Given the description of an element on the screen output the (x, y) to click on. 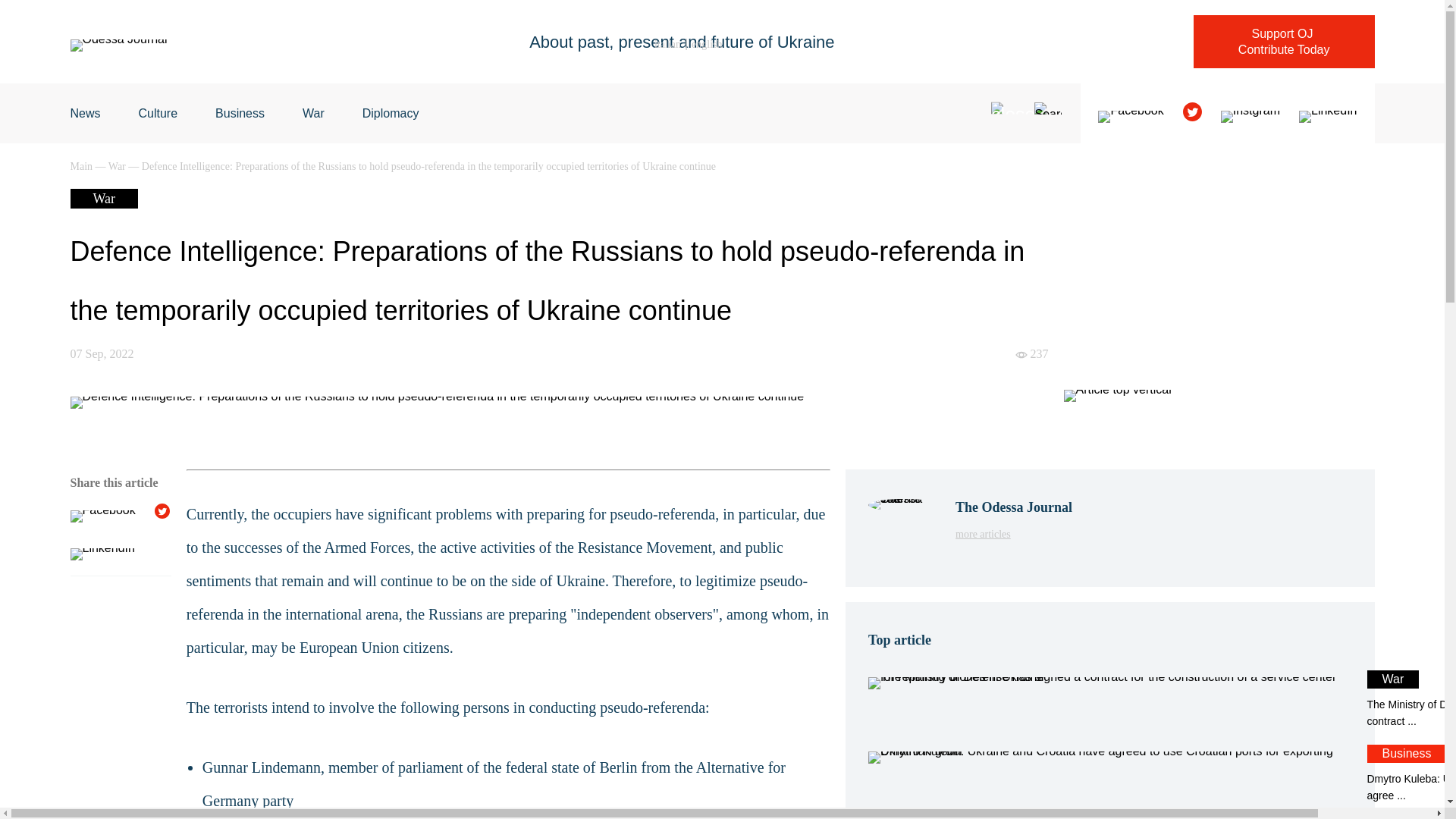
Diplomacy (390, 113)
Diplomacy (390, 113)
more articles (1109, 699)
Business (1013, 534)
News (239, 113)
Culture (84, 113)
Culture (157, 113)
more articles (157, 113)
italian (1013, 534)
War (667, 43)
Business (1283, 41)
Facebook (313, 113)
Twitter (239, 113)
